Given the description of an element on the screen output the (x, y) to click on. 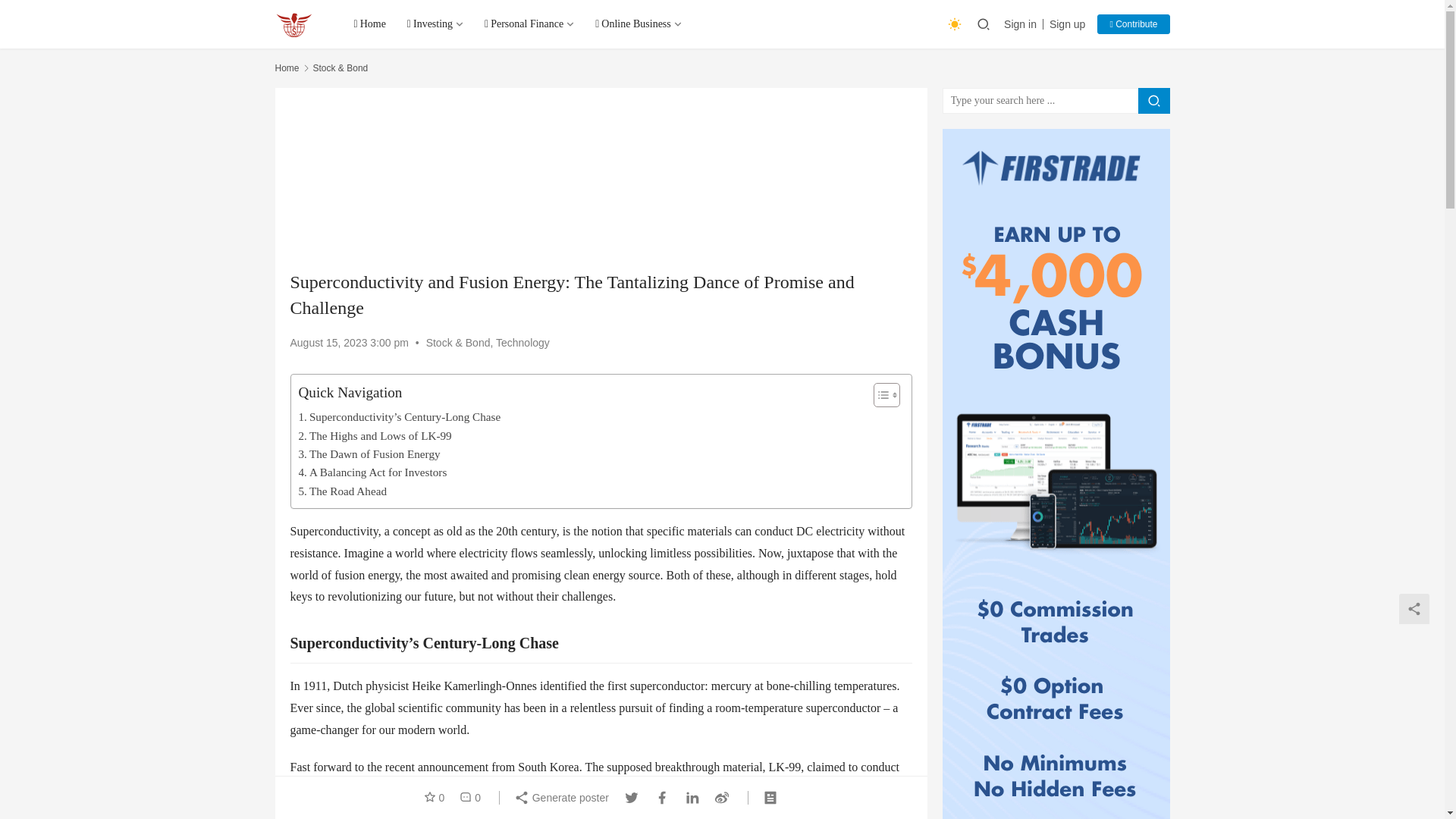
A Balancing Act for Investors (372, 472)
Contribute (1133, 24)
The Road Ahead (342, 491)
Online Business (639, 24)
The Dawn of Fusion Energy (369, 454)
The Dawn of Fusion Energy (369, 454)
Advertisement (600, 178)
Home (286, 68)
The Highs and Lows of LK-99 (374, 435)
Home (369, 24)
The Highs and Lows of LK-99 (374, 435)
The Road Ahead (342, 491)
Sign up (1066, 24)
Sign in (1023, 24)
Personal Finance (529, 24)
